Given the description of an element on the screen output the (x, y) to click on. 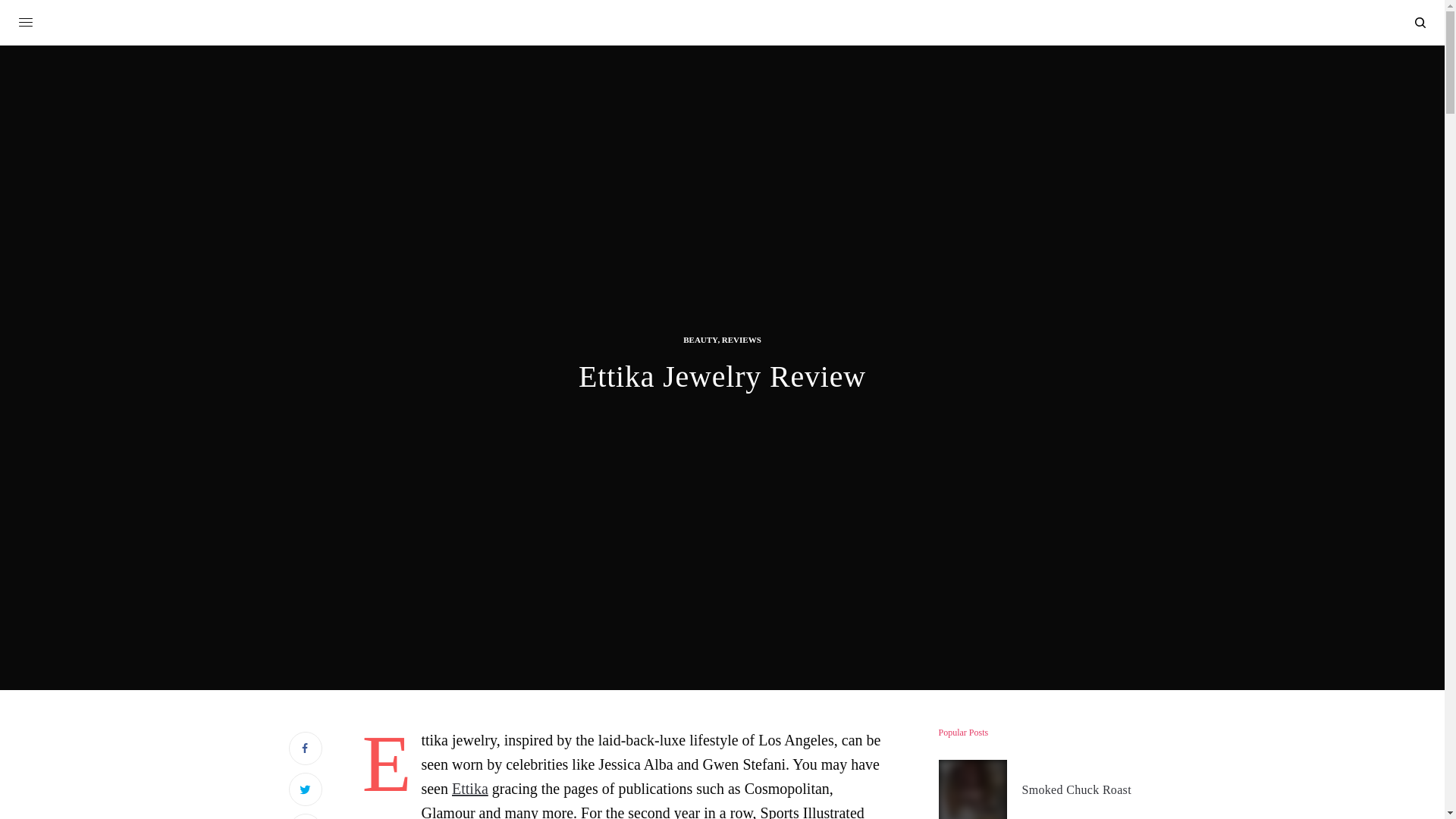
Ettika (469, 788)
REVIEWS (741, 339)
Smoked Chuck Roast (1076, 790)
About a Mom (722, 24)
BEAUTY (699, 339)
Smoked Chuck Roast (1076, 790)
